Given the description of an element on the screen output the (x, y) to click on. 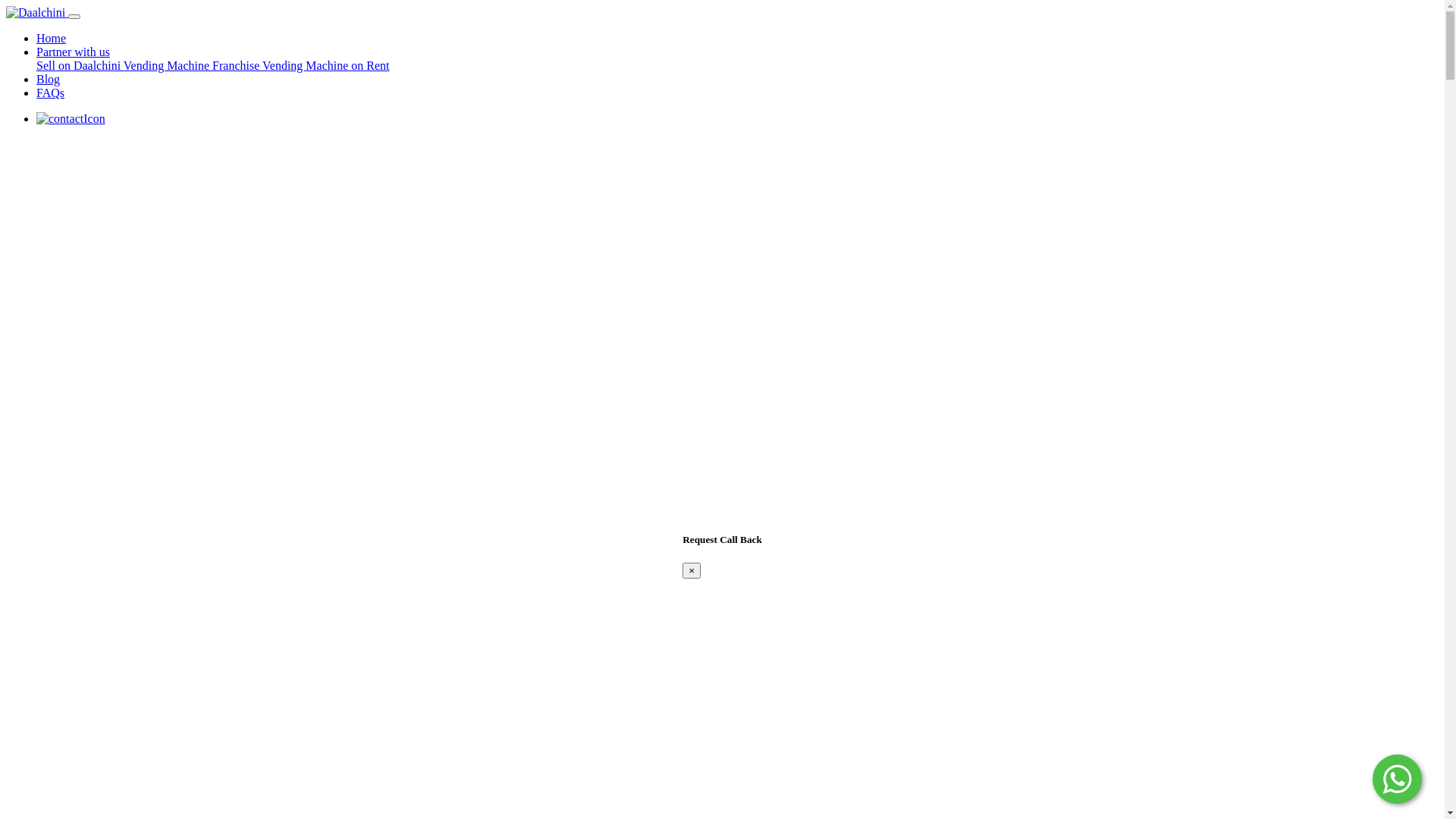
Blog Element type: text (47, 78)
Vending Machine on Rent Element type: text (325, 65)
Home Element type: text (50, 37)
Sell on Daalchini Element type: text (79, 65)
Vending Machine Franchise Element type: text (192, 65)
FAQs Element type: text (50, 92)
Partner with us Element type: text (72, 51)
